Given the description of an element on the screen output the (x, y) to click on. 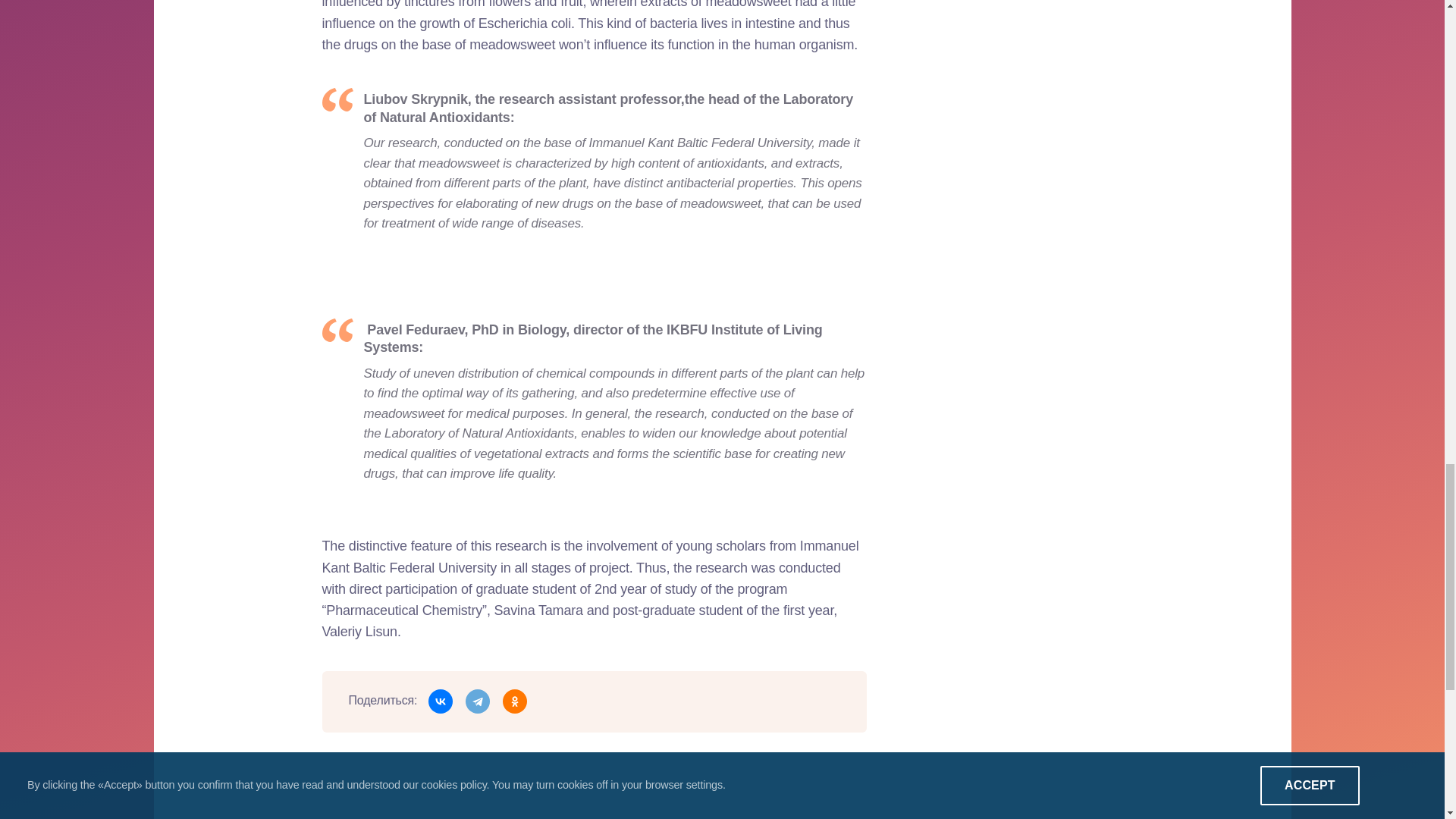
Telegram (477, 701)
